Given the description of an element on the screen output the (x, y) to click on. 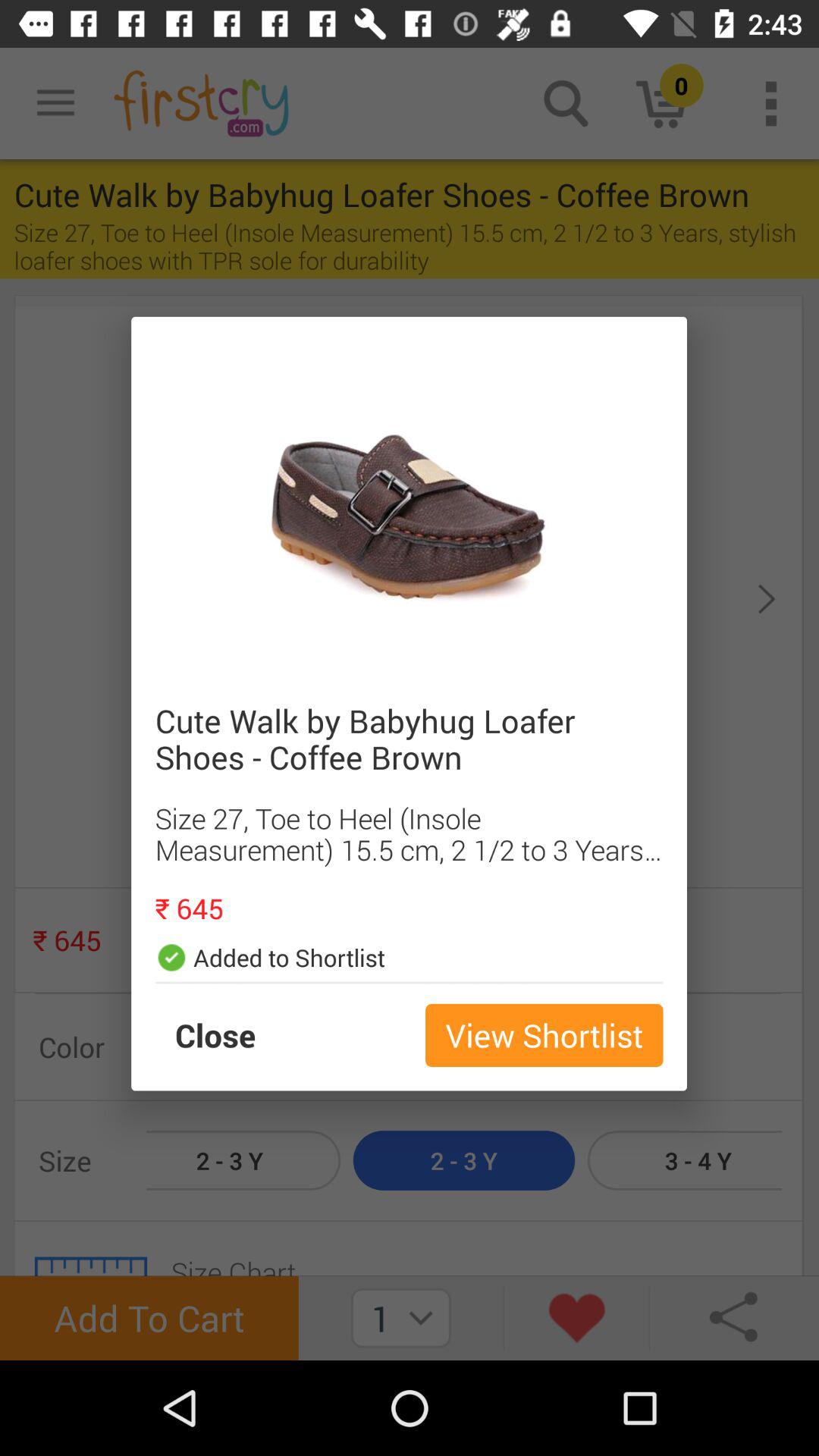
click item to the left of view shortlist (231, 1034)
